Given the description of an element on the screen output the (x, y) to click on. 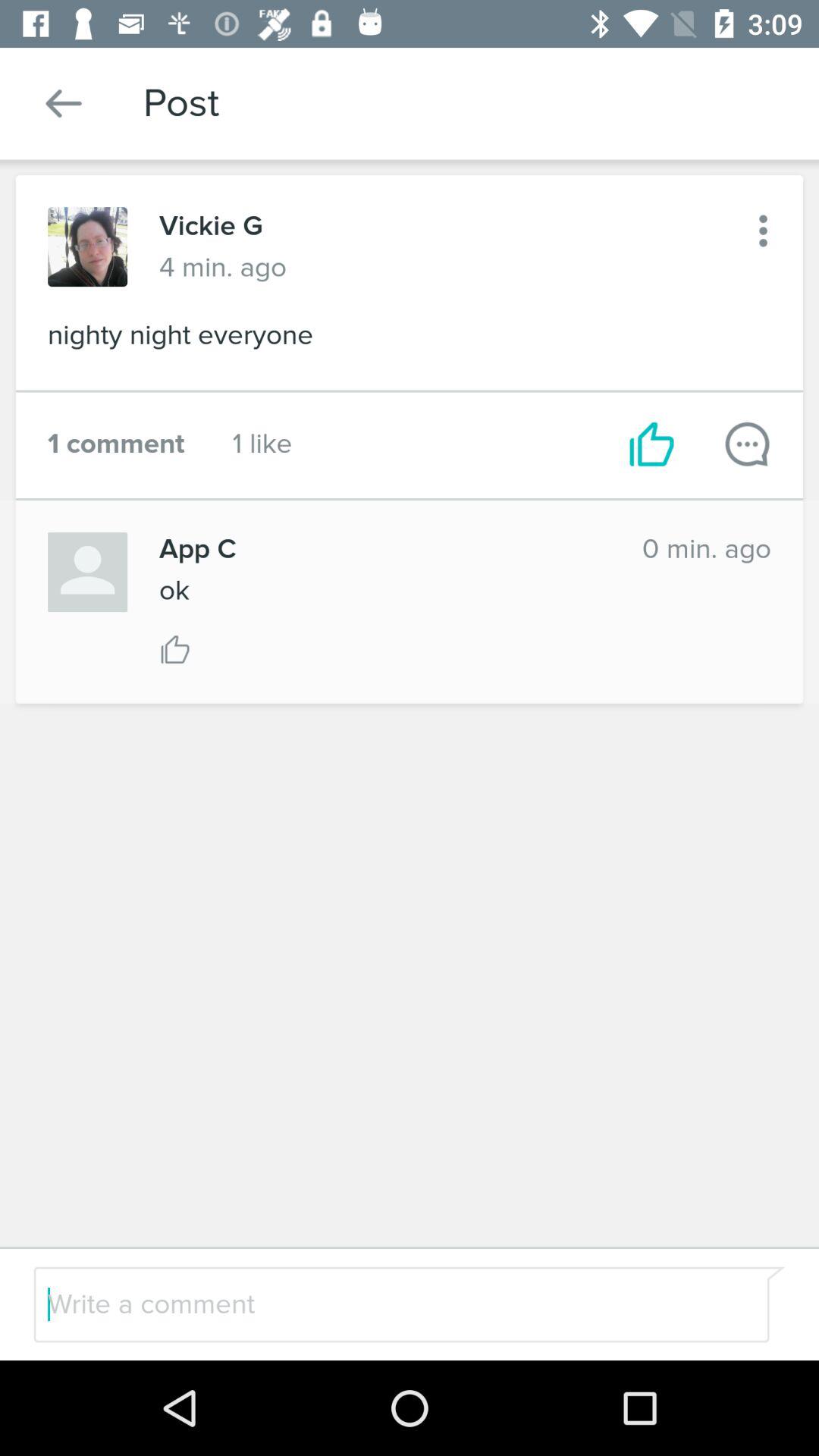
open this profile (87, 246)
